Given the description of an element on the screen output the (x, y) to click on. 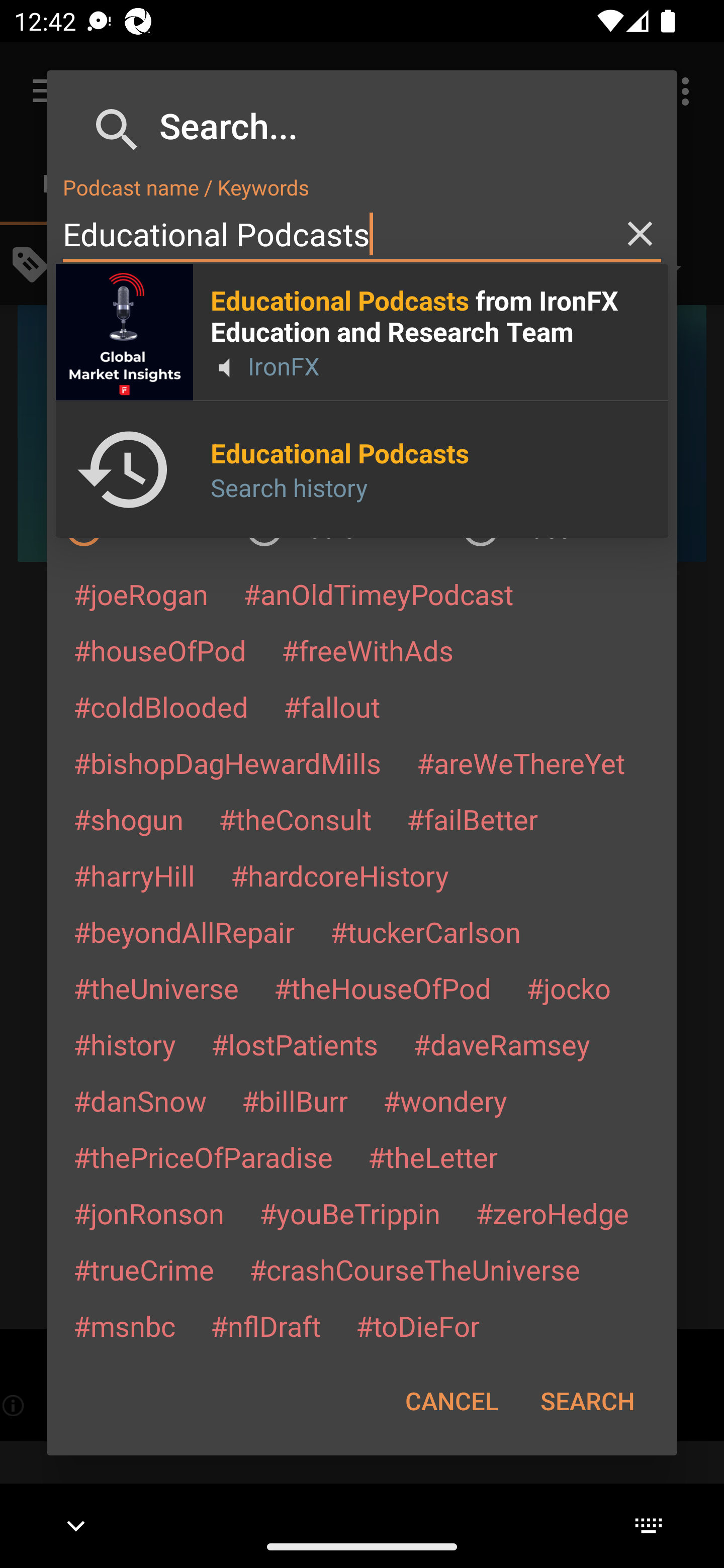
Educational Podcasts (361, 234)
#joeRogan (140, 594)
#anOldTimeyPodcast (378, 594)
#houseOfPod (159, 650)
#freeWithAds (367, 650)
#coldBlooded (160, 705)
#fallout (331, 705)
#bishopDagHewardMills (227, 762)
#areWeThereYet (521, 762)
#shogun (128, 818)
#theConsult (294, 818)
#failBetter (471, 818)
#harryHill (134, 875)
#hardcoreHistory (339, 875)
#beyondAllRepair (184, 931)
#tuckerCarlson (425, 931)
#theUniverse (155, 987)
#theHouseOfPod (381, 987)
#jocko (568, 987)
#history (124, 1044)
#lostPatients (294, 1044)
#daveRamsey (501, 1044)
#danSnow (139, 1100)
#billBurr (294, 1100)
#wondery (444, 1100)
#thePriceOfParadise (203, 1157)
#theLetter (432, 1157)
#jonRonson (148, 1213)
#youBeTrippin (349, 1213)
#zeroHedge (552, 1213)
#trueCrime (143, 1268)
#crashCourseTheUniverse (414, 1268)
#msnbc (124, 1325)
#nflDraft (265, 1325)
#toDieFor (417, 1325)
CANCEL (451, 1400)
SEARCH (587, 1400)
